Given the description of an element on the screen output the (x, y) to click on. 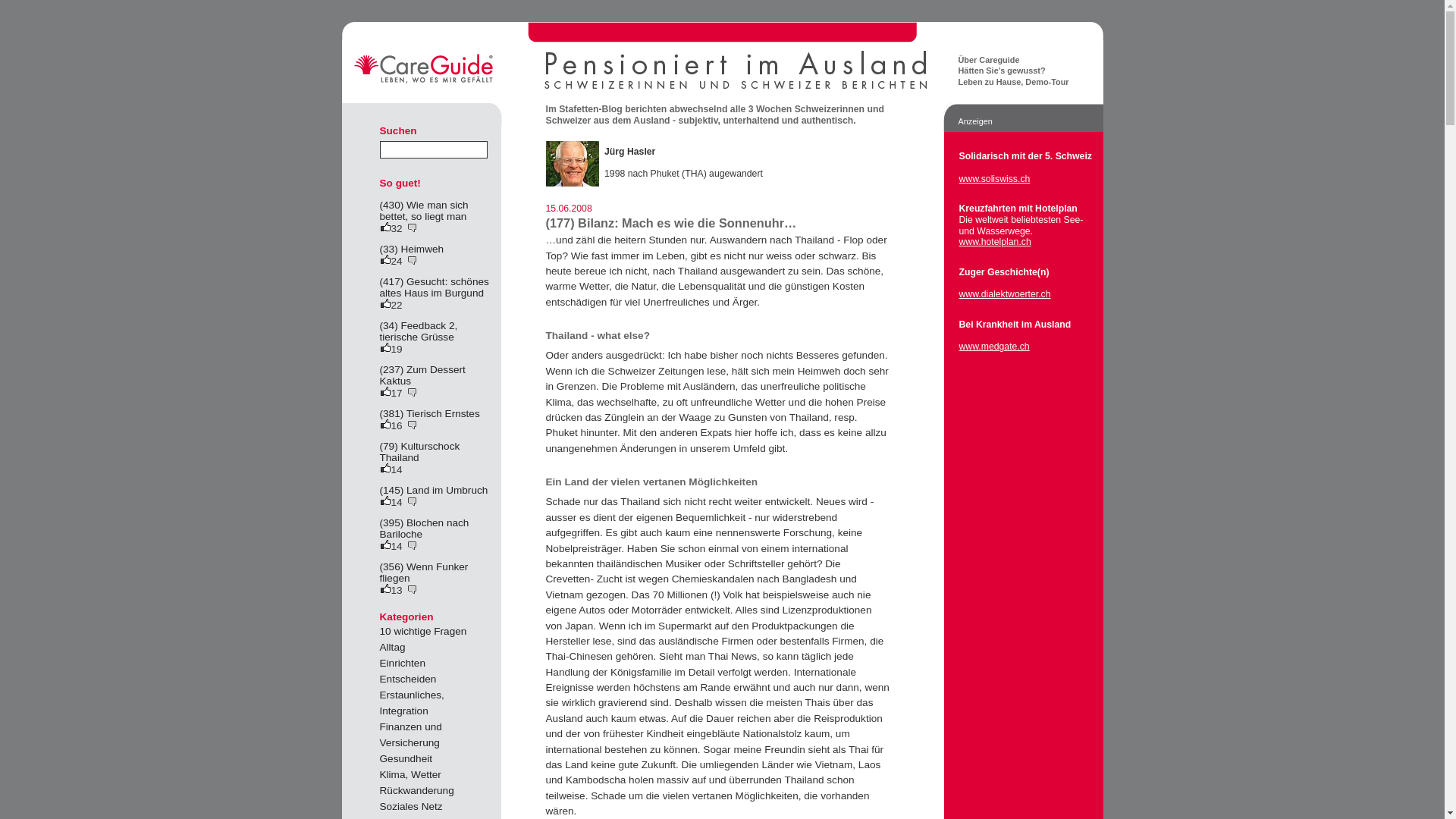
www.soliswiss.ch Element type: text (993, 178)
(33) Heimweh Element type: text (411, 248)
4 Element type: hover (411, 589)
Leben zu Hause, Demo-Tour Element type: text (1009, 81)
Entscheiden Element type: text (407, 678)
7 Element type: hover (411, 501)
19 Element type: hover (384, 347)
4 Element type: hover (411, 424)
Alltag Element type: text (391, 646)
Finanzen und Versicherung Element type: text (410, 734)
24 Element type: hover (384, 259)
Gesundheit Element type: text (405, 758)
Soziales Netz Element type: text (410, 806)
6 Element type: hover (411, 392)
14 Element type: hover (384, 500)
(79) Kulturschock Thailand Element type: text (419, 451)
(395) Blochen nach Bariloche Element type: text (423, 528)
14 Element type: hover (384, 544)
(356) Wenn Funker fliegen Element type: text (423, 572)
7 Element type: hover (411, 260)
Erstaunliches, Integration Element type: text (411, 702)
2 Element type: hover (411, 227)
10 wichtige Fragen Element type: text (422, 631)
(237) Zum Dessert Kaktus Element type: text (421, 375)
Einrichten Element type: text (401, 662)
(430) Wie man sich bettet, so liegt man Element type: text (423, 210)
Klima, Wetter Element type: text (409, 774)
13 Element type: hover (384, 588)
32 Element type: hover (384, 227)
www.dialektwoerter.ch Element type: text (1004, 293)
(381) Tierisch Ernstes Element type: text (429, 413)
14 Element type: hover (384, 468)
Anzeigen Element type: text (975, 120)
www.hotelplan.ch Element type: text (994, 241)
16 Element type: hover (384, 424)
2 Element type: hover (411, 545)
22 Element type: hover (384, 303)
www.medgate.ch Element type: text (993, 346)
Enter keyword to search Element type: hover (432, 149)
17 Element type: hover (384, 391)
(145) Land im Umbruch Element type: text (433, 489)
